Given the description of an element on the screen output the (x, y) to click on. 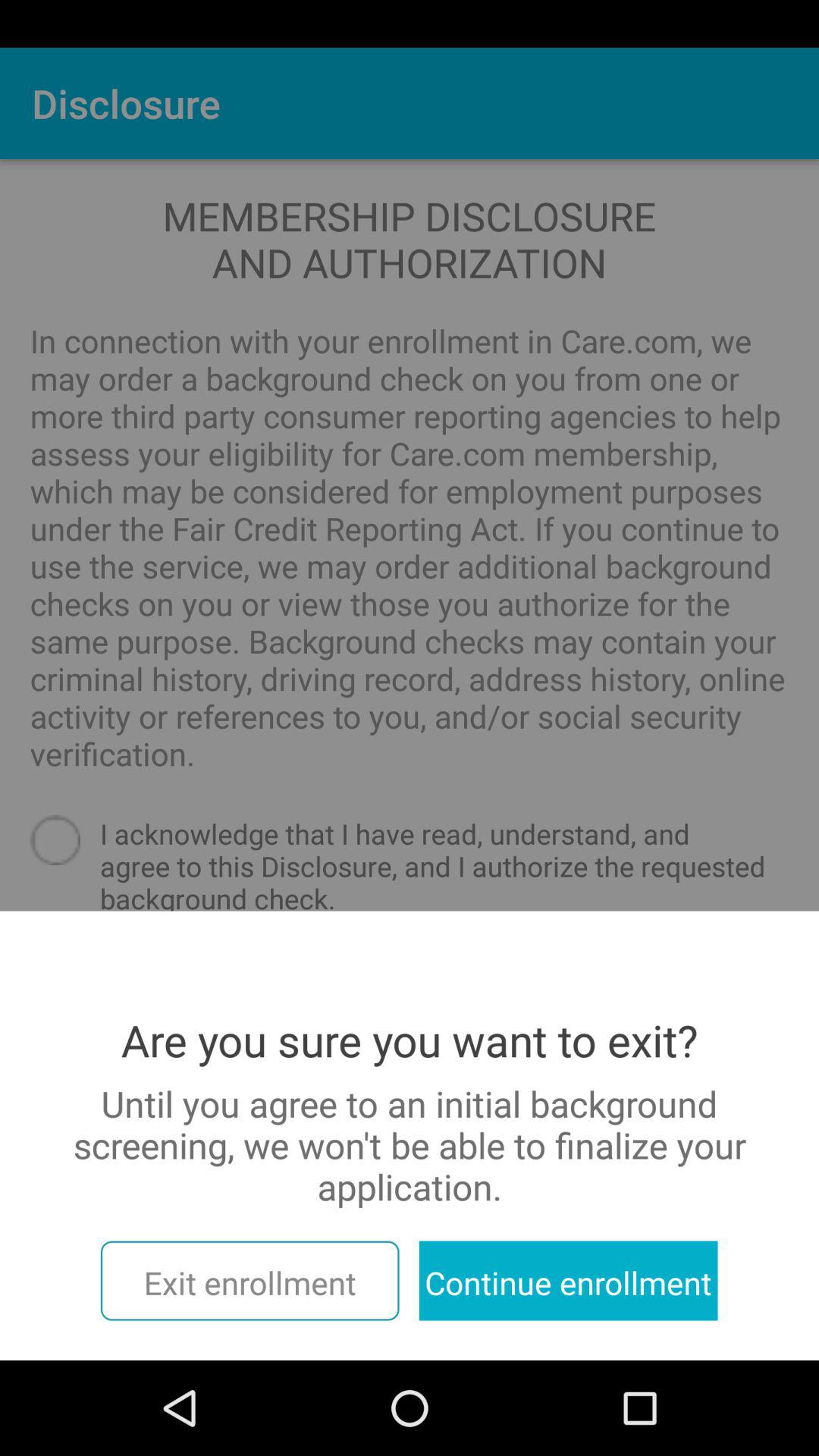
open item at the bottom right corner (568, 1280)
